Given the description of an element on the screen output the (x, y) to click on. 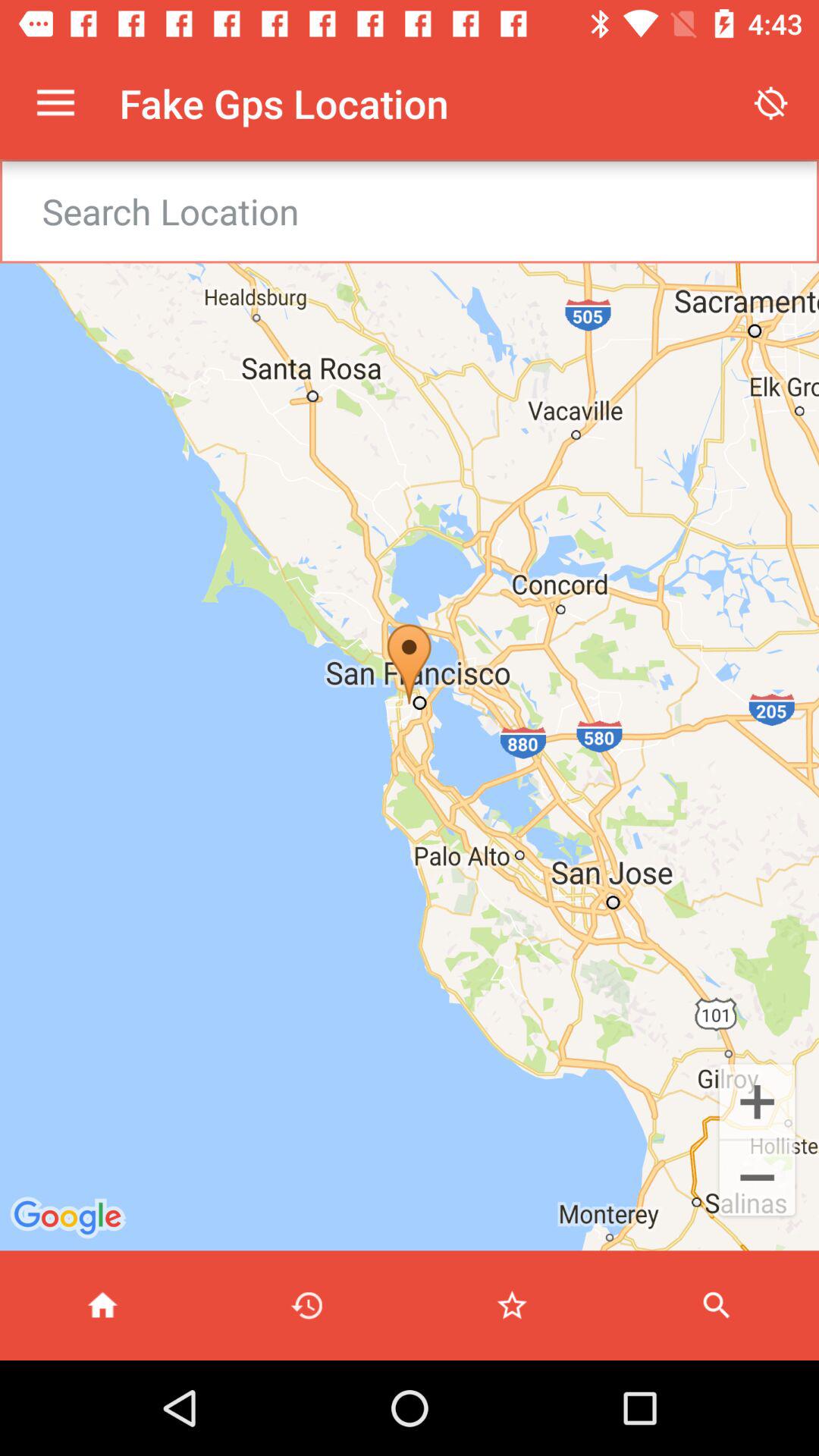
search map (716, 1305)
